Given the description of an element on the screen output the (x, y) to click on. 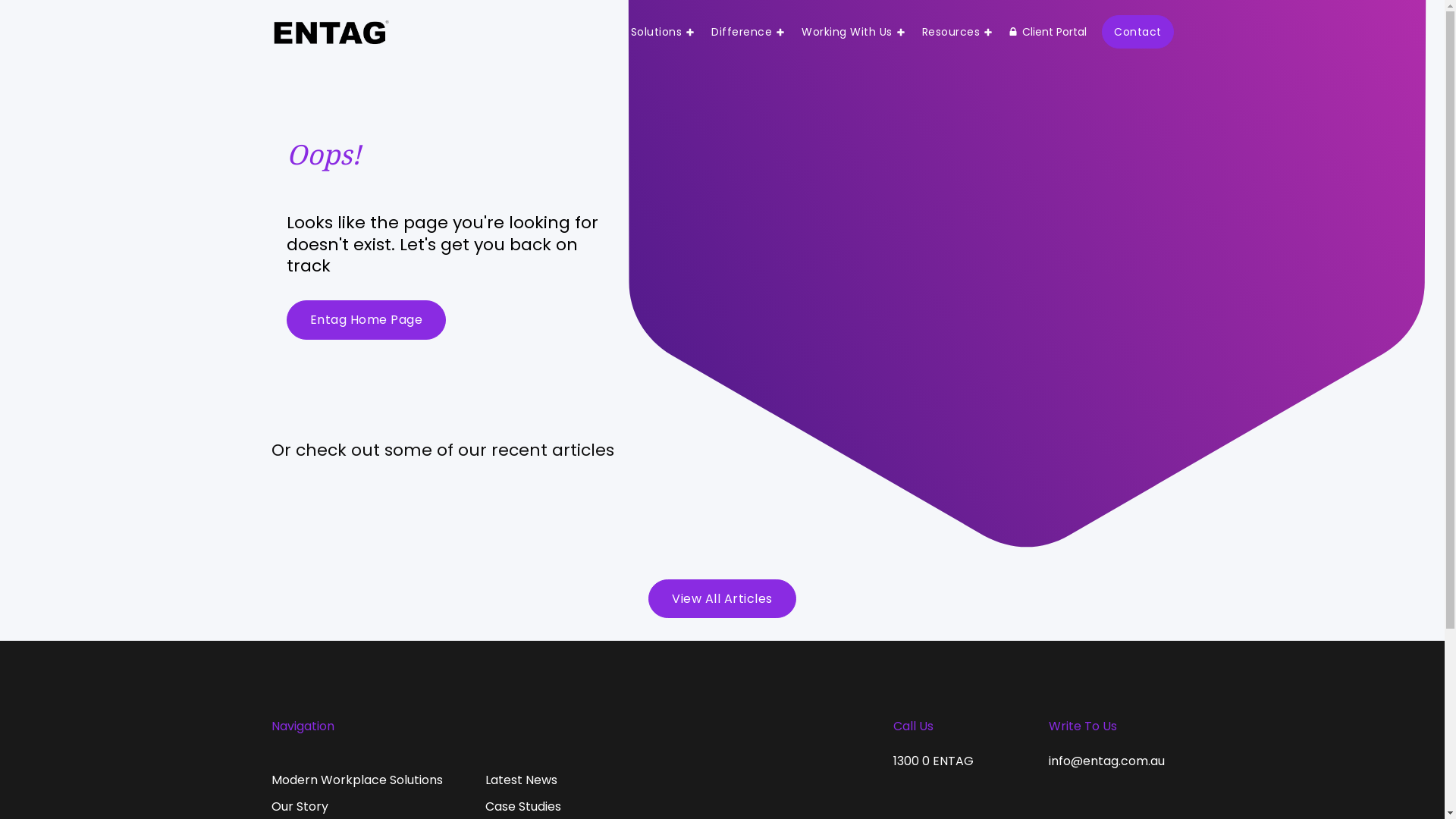
info@entag.com.au Element type: text (1106, 761)
1300 0 ENTAG Element type: text (933, 761)
Modern Workplace Solutions Element type: text (356, 779)
Contact Element type: text (1137, 31)
Latest News Element type: text (523, 779)
Entag Home Page Element type: text (366, 319)
Client Portal Element type: text (1046, 31)
View All Articles Element type: text (722, 598)
